Given the description of an element on the screen output the (x, y) to click on. 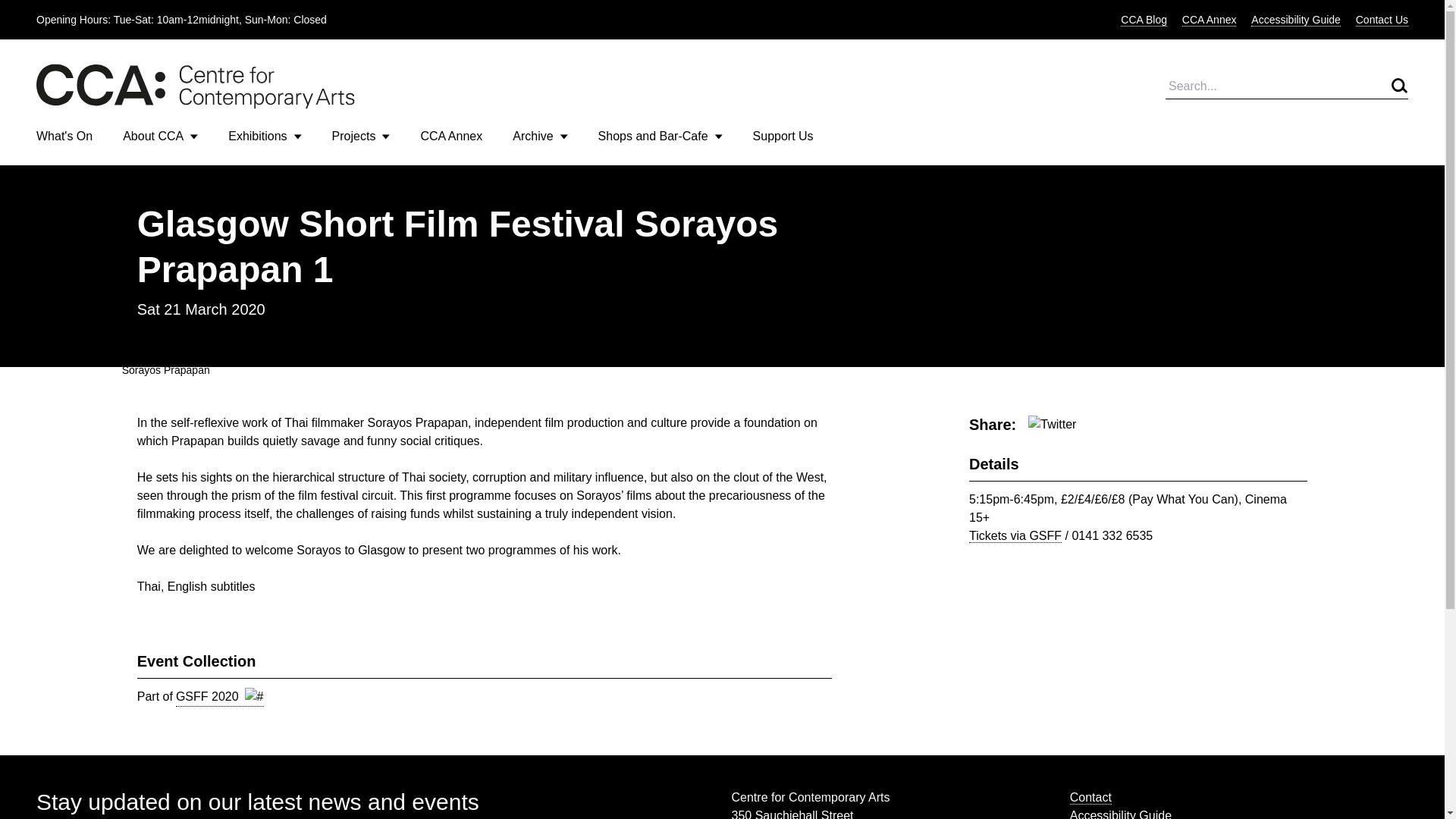
Contact Us (1381, 19)
Share on Twitter (1051, 424)
Archive (539, 136)
What's On (64, 135)
CCA Blog (1144, 19)
CCA Annex (450, 135)
CCA Annex (1209, 19)
About CCA (160, 136)
Projects (360, 136)
Exhibitions (264, 136)
